Given the description of an element on the screen output the (x, y) to click on. 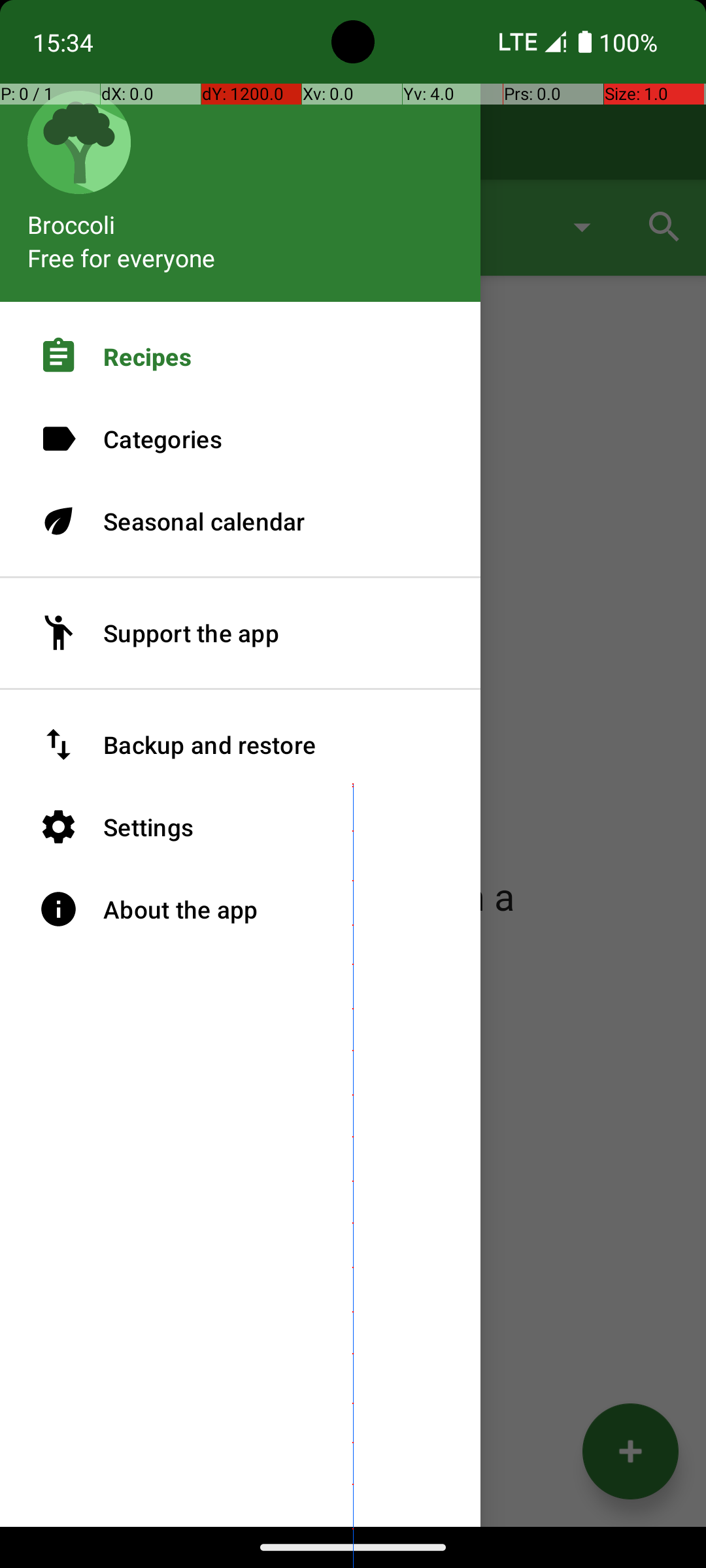
Free for everyone Element type: android.widget.TextView (121, 257)
